Given the description of an element on the screen output the (x, y) to click on. 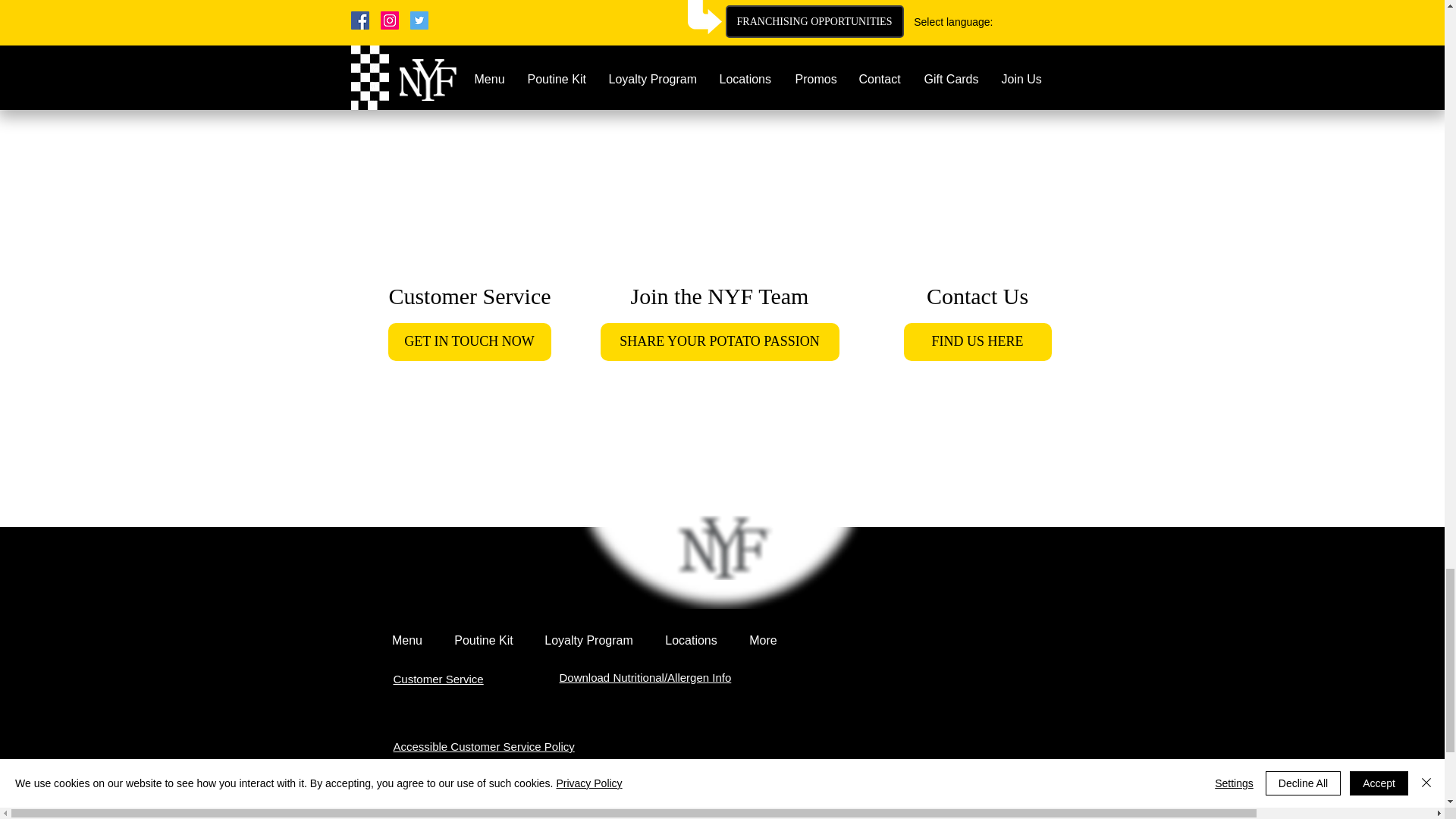
GET IN TOUCH NOW (469, 341)
SHARE YOUR POTATO PASSION (719, 341)
FIND US HERE (977, 341)
